Given the description of an element on the screen output the (x, y) to click on. 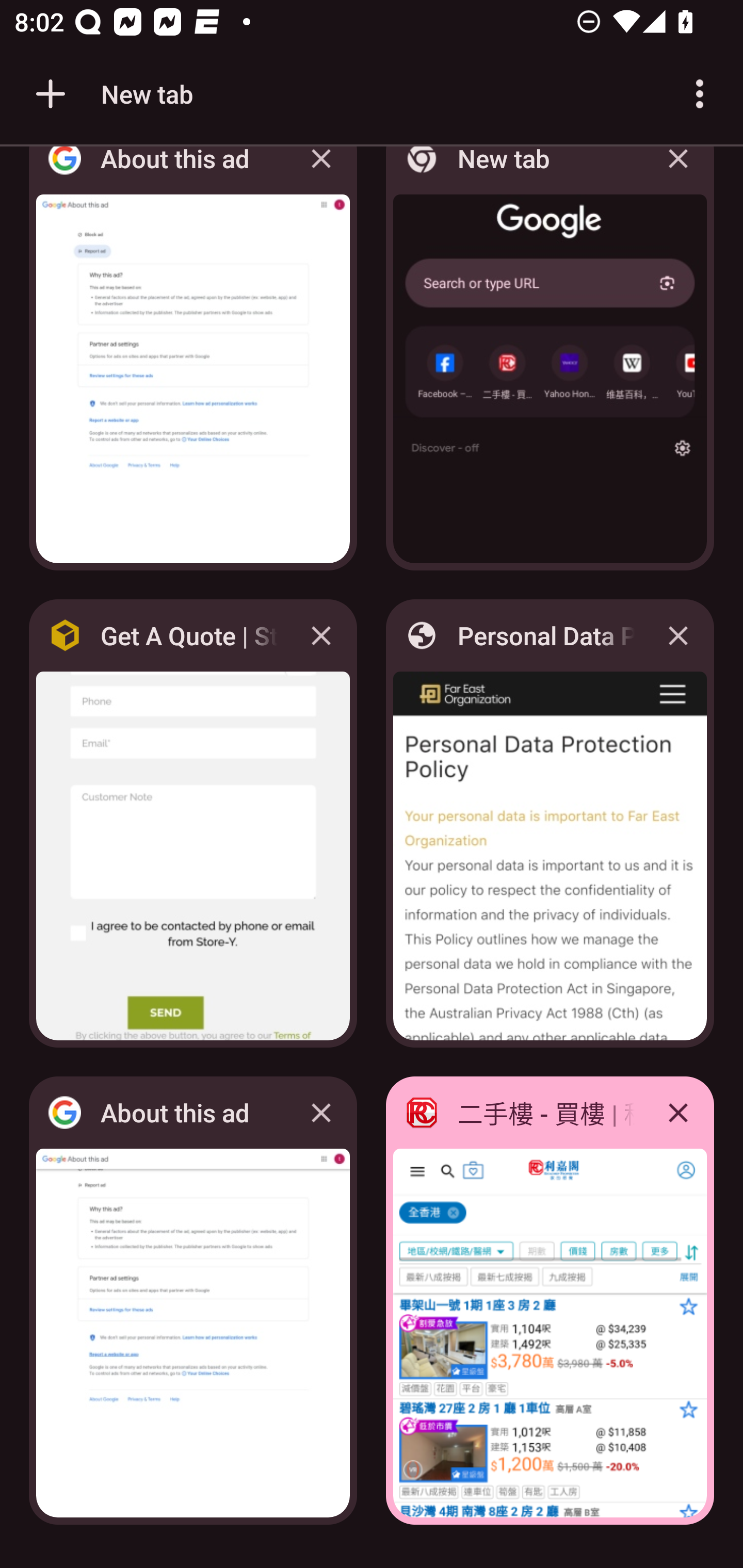
New tab (111, 93)
Customize and control Google Chrome (699, 93)
Close About this ad tab (320, 173)
New tab New tab, tab Close New tab tab (549, 364)
Close New tab tab (677, 173)
Close Get A Quote | Store-Y Self Storage tab (320, 635)
Close Personal Data Protection Policy tab (677, 635)
Close About this ad tab (320, 1112)
Close 二手樓 - 買樓 | 租樓 | 搵樓 - 真盤源 - 利嘉閣地產有限公司 tab (677, 1112)
